Given the description of an element on the screen output the (x, y) to click on. 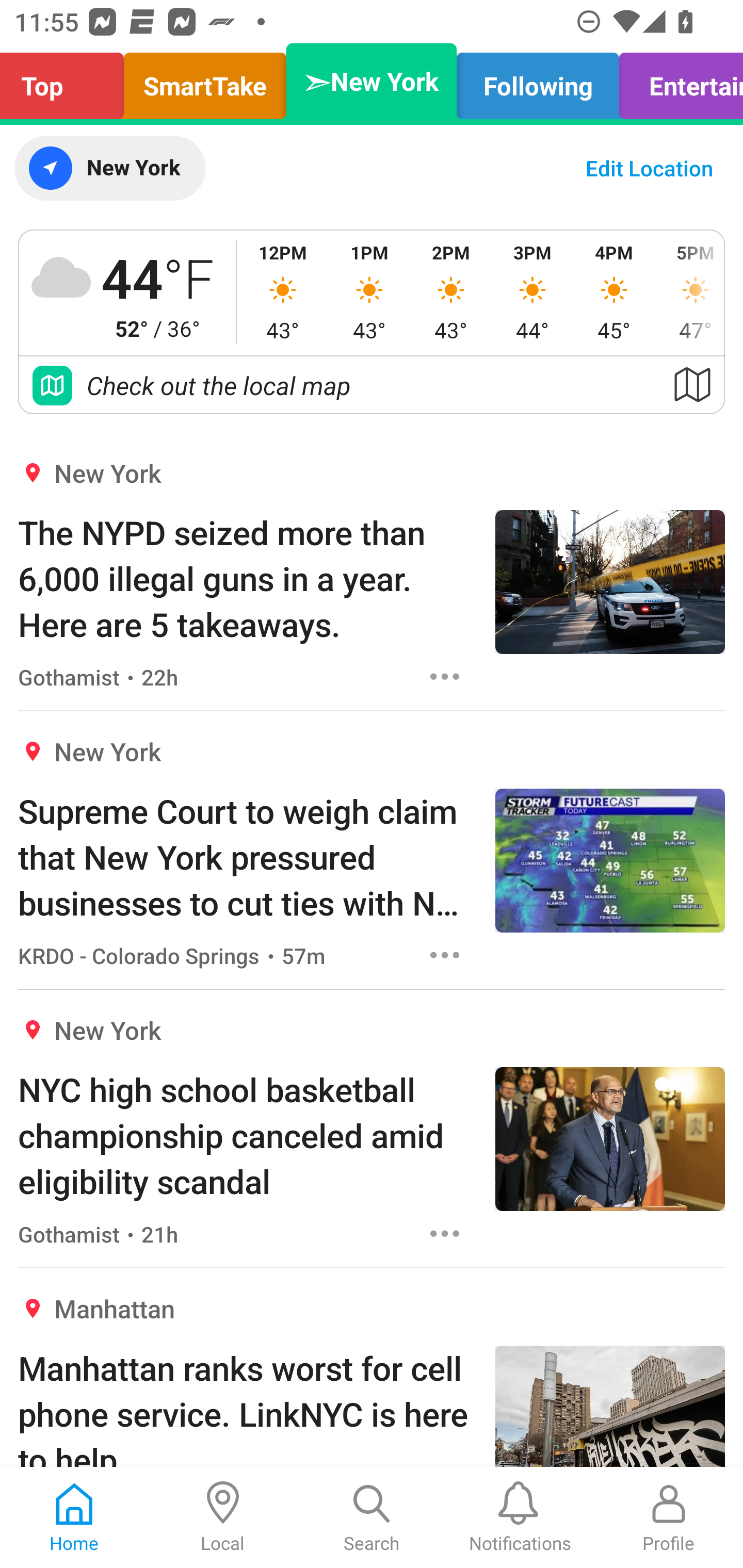
Top (67, 81)
SmartTake (204, 81)
➣New York (371, 81)
Following (537, 81)
New York (109, 168)
Edit Location (648, 168)
12PM 43° (282, 291)
1PM 43° (369, 291)
2PM 43° (450, 291)
3PM 44° (532, 291)
4PM 45° (613, 291)
5PM 47° (689, 291)
Check out the local map (371, 384)
Options (444, 676)
Options (444, 954)
Options (444, 1233)
Local (222, 1517)
Search (371, 1517)
Notifications (519, 1517)
Profile (668, 1517)
